Given the description of an element on the screen output the (x, y) to click on. 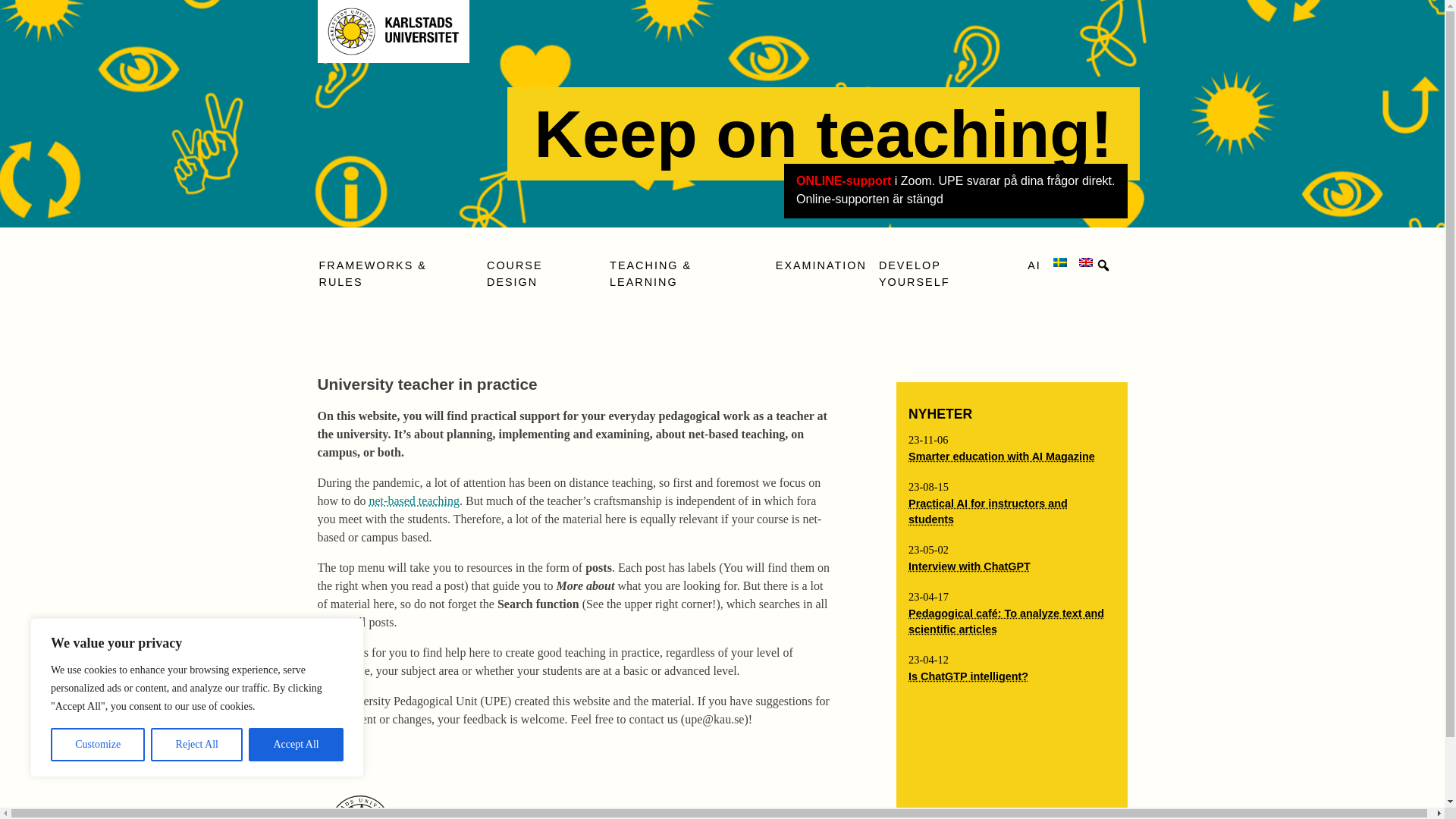
Accept All (295, 744)
COURSE DESIGN (542, 274)
Customize (97, 744)
Reject All (197, 744)
Keep on teaching! (823, 133)
EXAMINATION (821, 266)
